Given the description of an element on the screen output the (x, y) to click on. 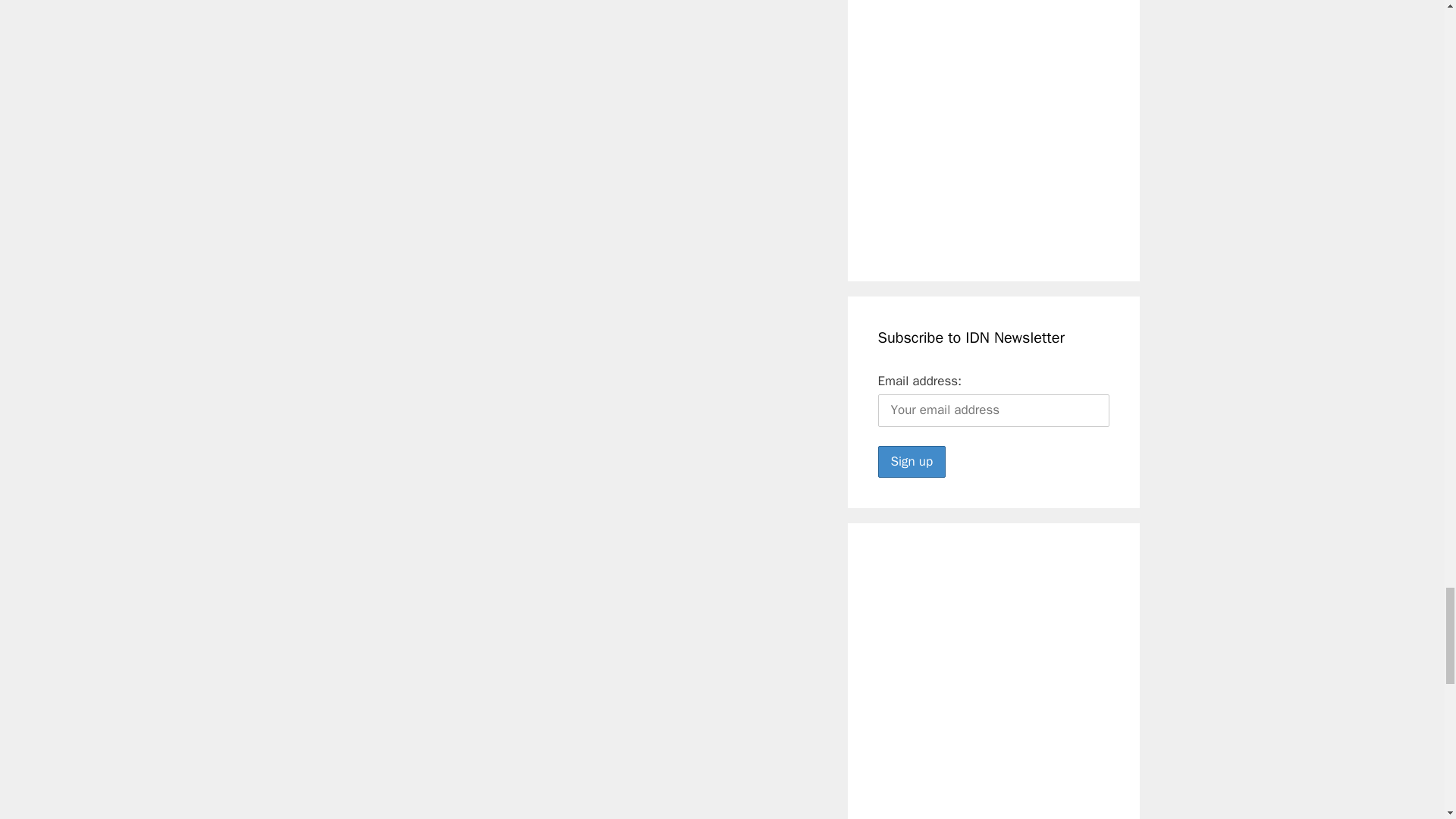
Sign up (911, 461)
